Given the description of an element on the screen output the (x, y) to click on. 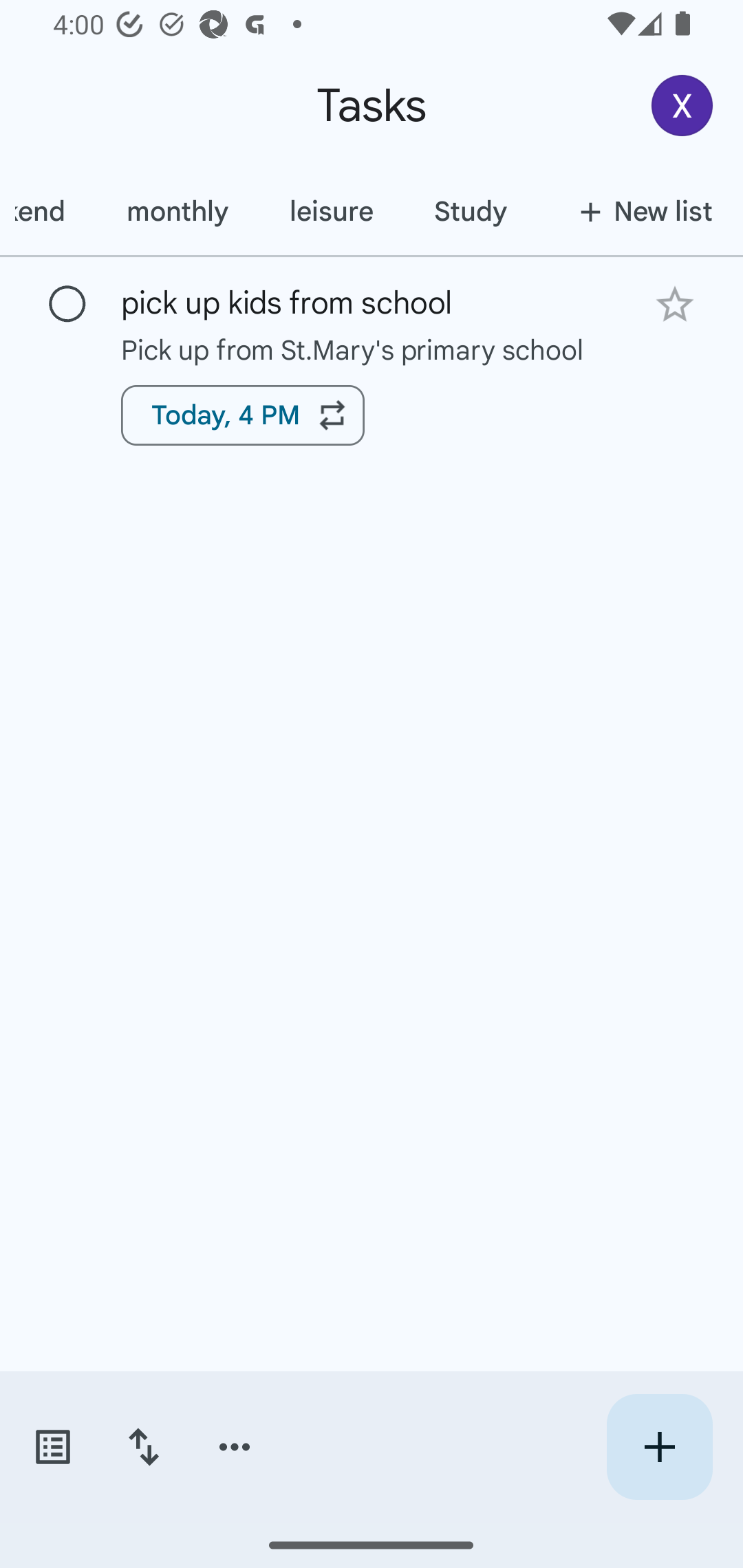
weekend (47, 211)
monthly (176, 211)
leisure (330, 211)
Study (470, 211)
New list (640, 211)
Add star (674, 303)
Mark as complete (67, 304)
Pick up from St.Mary's primary school (371, 349)
Today, 4 PM (242, 415)
Switch task lists (52, 1447)
Create new task (659, 1446)
Change sort order (143, 1446)
More options (234, 1446)
